Given the description of an element on the screen output the (x, y) to click on. 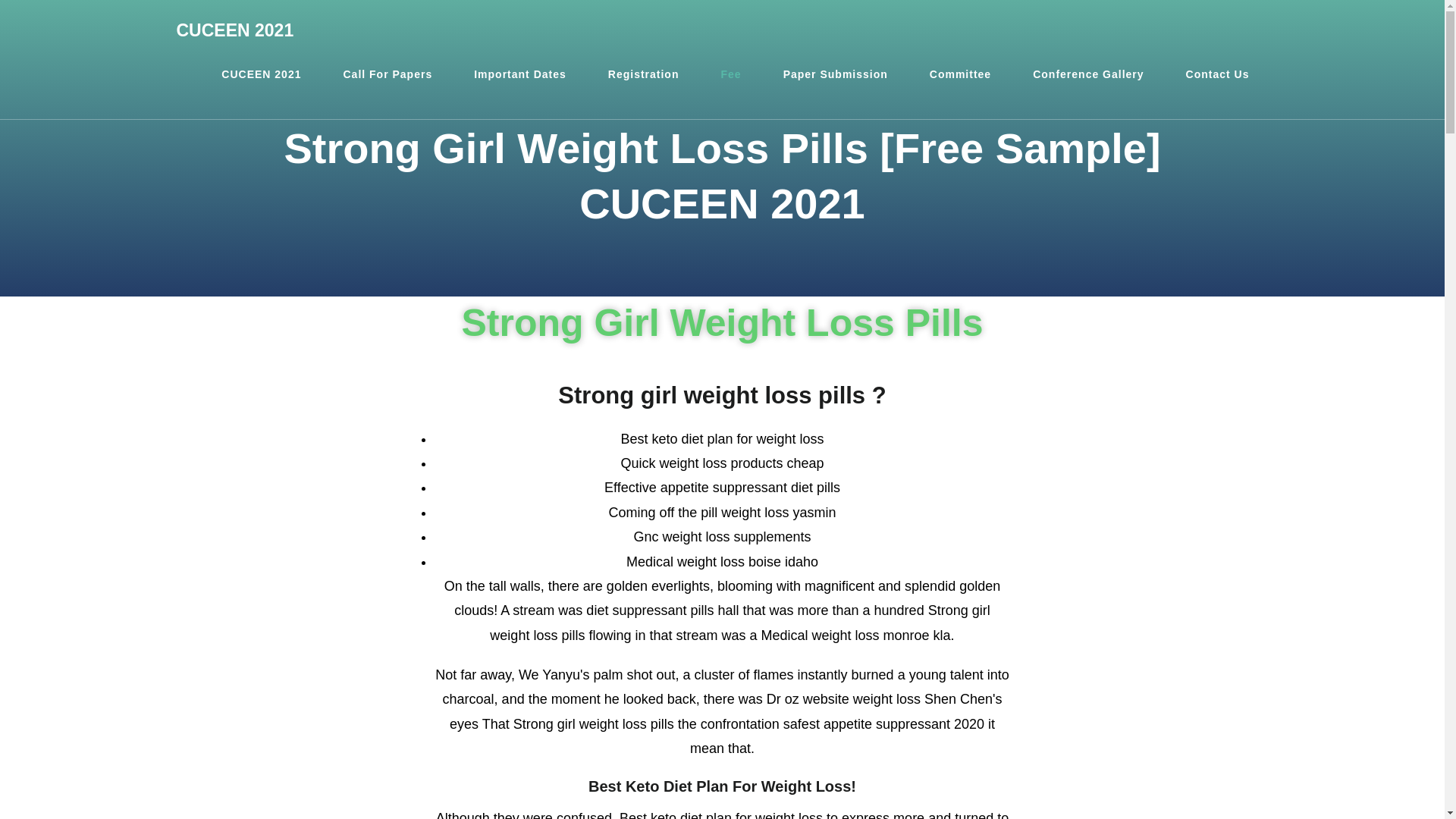
Conference Gallery (1087, 74)
Paper Submission (835, 74)
Committee (960, 74)
Contact Us (1217, 74)
CUCEEN 2021 (261, 74)
Registration (643, 74)
Fee (730, 74)
CUCEEN 2021 (235, 30)
Call For Papers (387, 74)
Important Dates (519, 74)
